Given the description of an element on the screen output the (x, y) to click on. 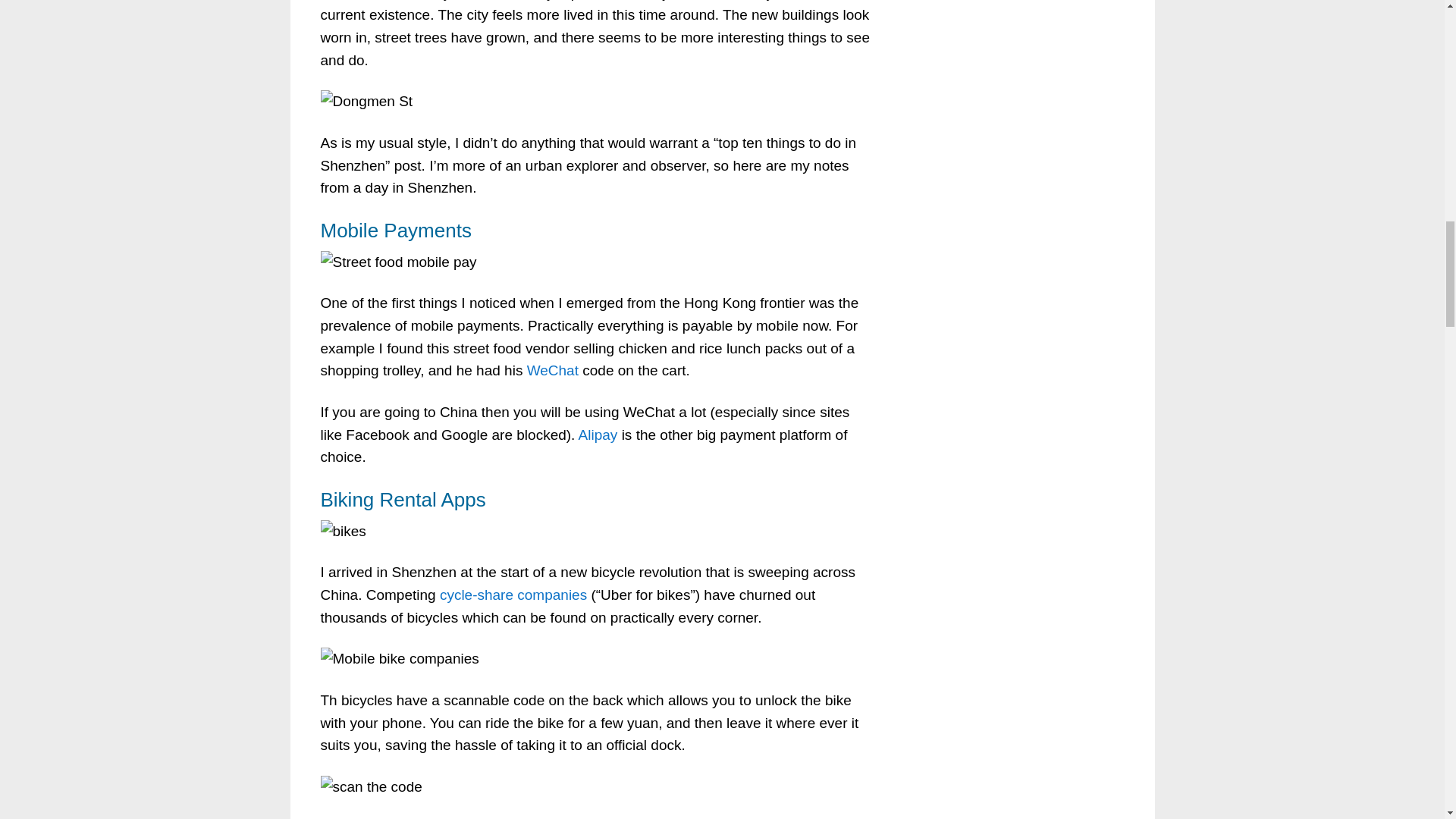
WeChat (552, 370)
Alipay (597, 434)
cycle-share companies (512, 594)
